Given the description of an element on the screen output the (x, y) to click on. 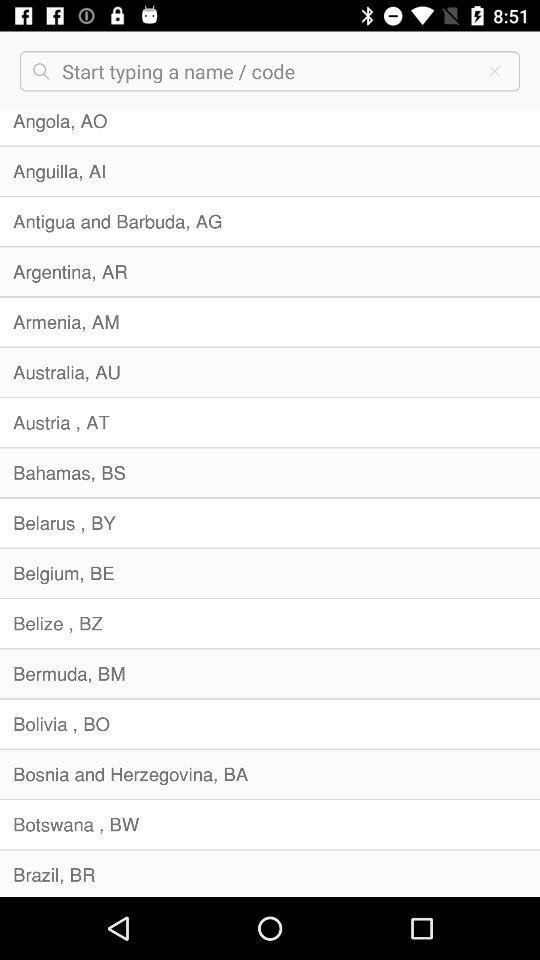
swipe until bermuda, bm (270, 673)
